Given the description of an element on the screen output the (x, y) to click on. 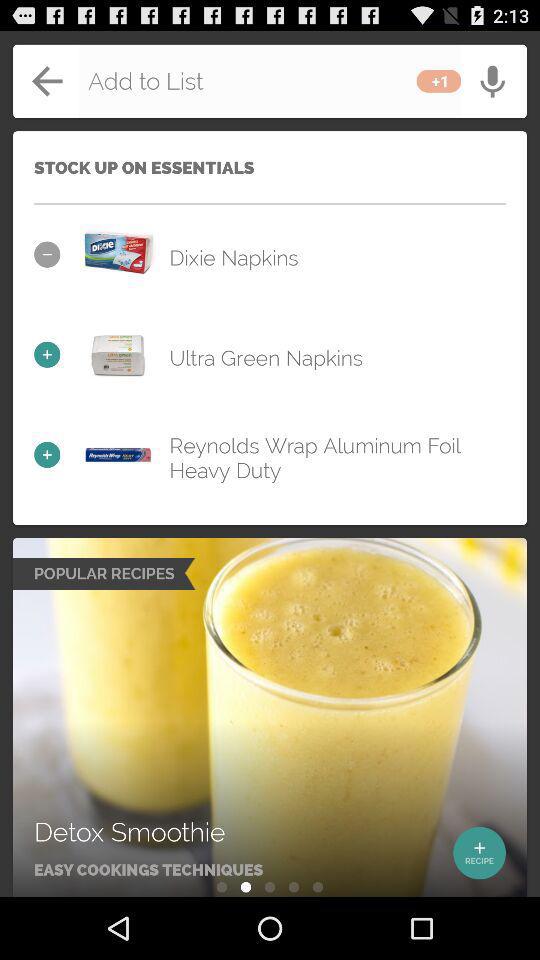
image of smoothie and link to recipe (269, 717)
